Given the description of an element on the screen output the (x, y) to click on. 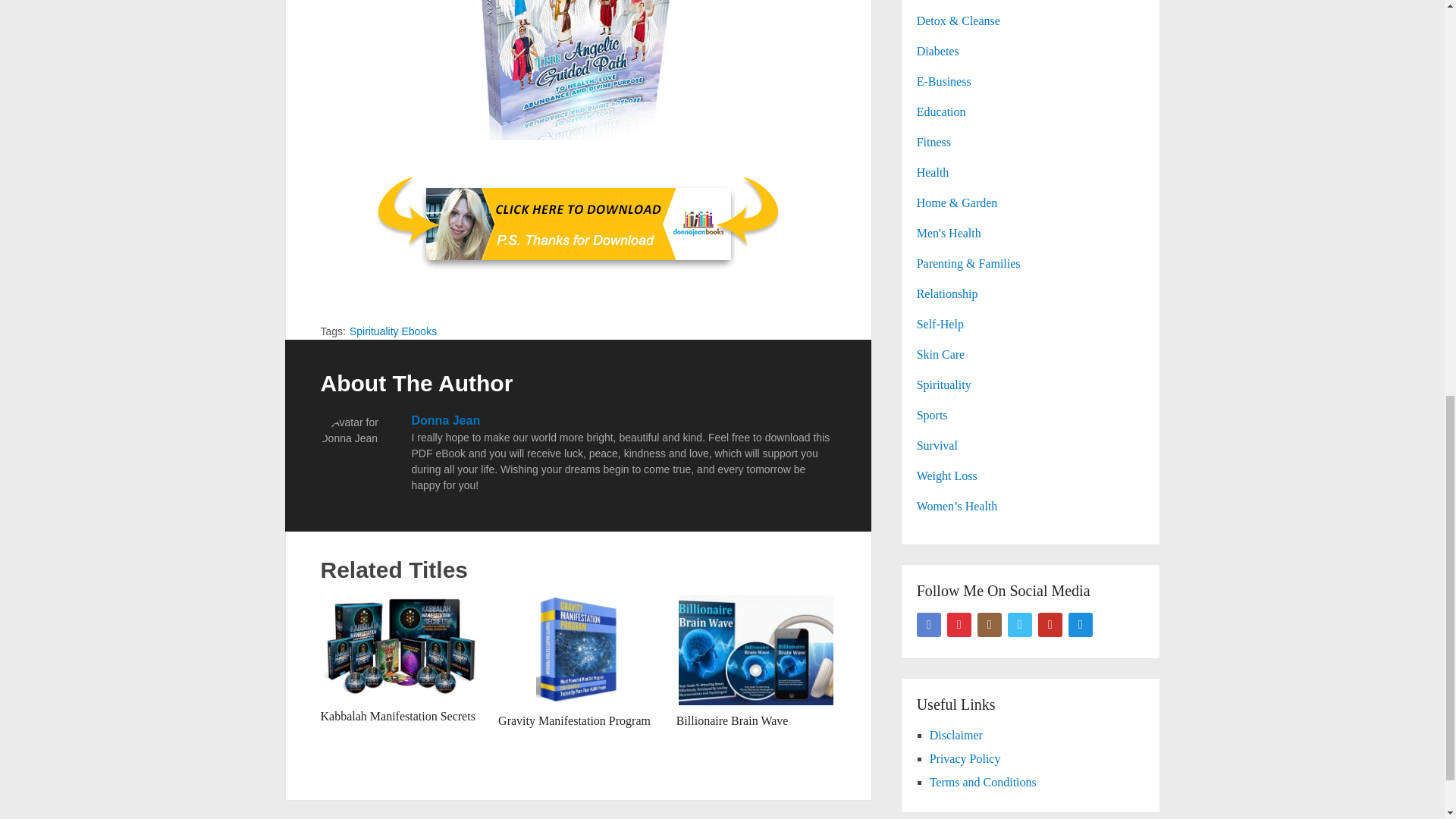
Billionaire Brain Wave (733, 720)
Billionaire Brain Wave (733, 720)
Gravity Manifestation Program (573, 720)
Spirituality Ebooks (392, 331)
Men's Health (949, 232)
E-Business (944, 81)
Kabbalah Manifestation Secrets (397, 716)
Donna Jean (445, 420)
Gravatar for Donna Jean (358, 452)
Gravity Manifestation Program (573, 720)
Health (933, 172)
Gravity Manifestation Program (577, 650)
Diabetes (938, 51)
Billionaire Brain Wave (756, 650)
Kabbalah Manifestation Secrets (397, 716)
